Given the description of an element on the screen output the (x, y) to click on. 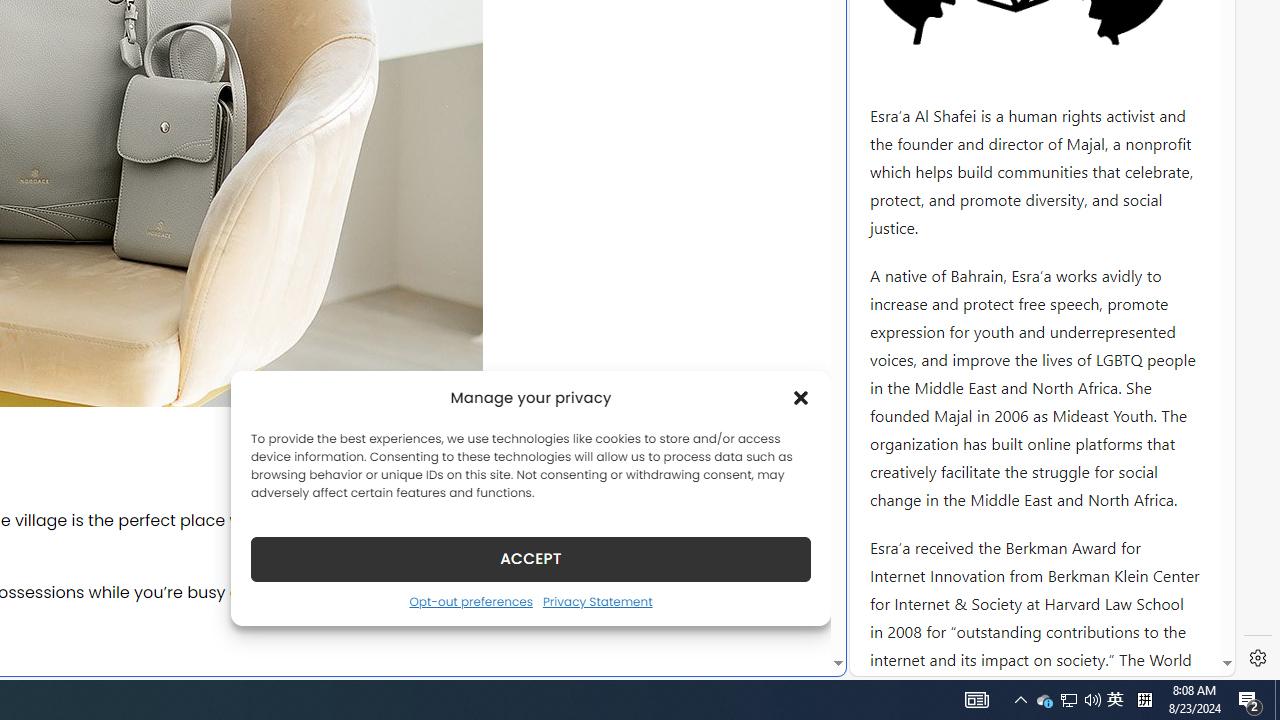
ACCEPT (530, 558)
Privacy Statement (596, 601)
